Given the description of an element on the screen output the (x, y) to click on. 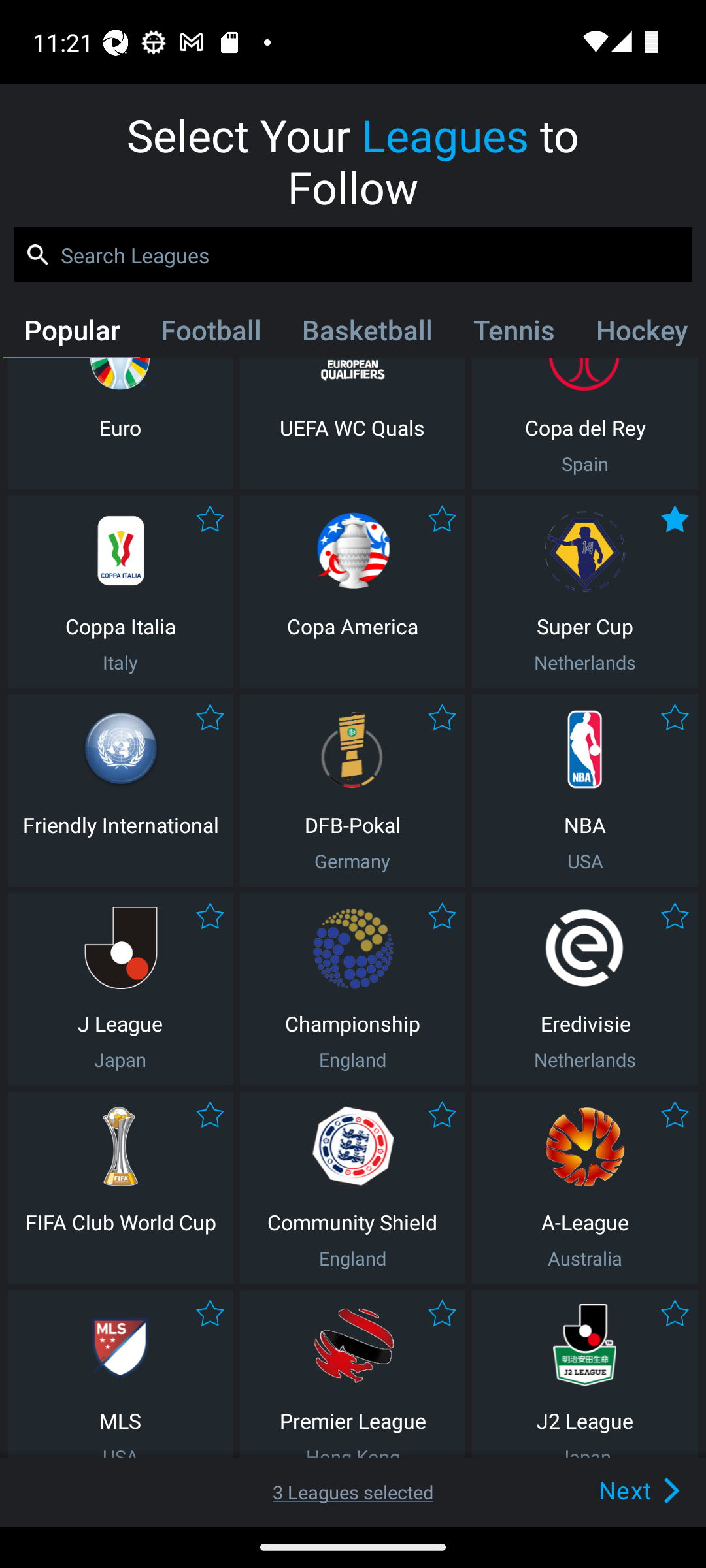
Search Leagues (352, 254)
Popular (71, 333)
Football (209, 333)
Basketball (366, 333)
Tennis (513, 333)
Hockey (638, 333)
Euro (120, 423)
UEFA WC Quals (352, 423)
Copa del Rey Spain (585, 423)
Coppa Italia Italy (120, 591)
Copa America (352, 591)
Super Cup Netherlands (585, 591)
Friendly International (120, 789)
DFB-Pokal Germany (352, 789)
NBA USA (585, 789)
J League Japan (120, 989)
Championship England (352, 989)
Eredivisie Netherlands (585, 989)
FIFA Club World Cup (120, 1187)
Community Shield England (352, 1187)
A-League Australia (585, 1187)
MLS USA (120, 1374)
Premier League Hong Kong (352, 1374)
J2 League Japan (585, 1374)
Next (609, 1489)
3 Leagues selected (352, 1491)
